Given the description of an element on the screen output the (x, y) to click on. 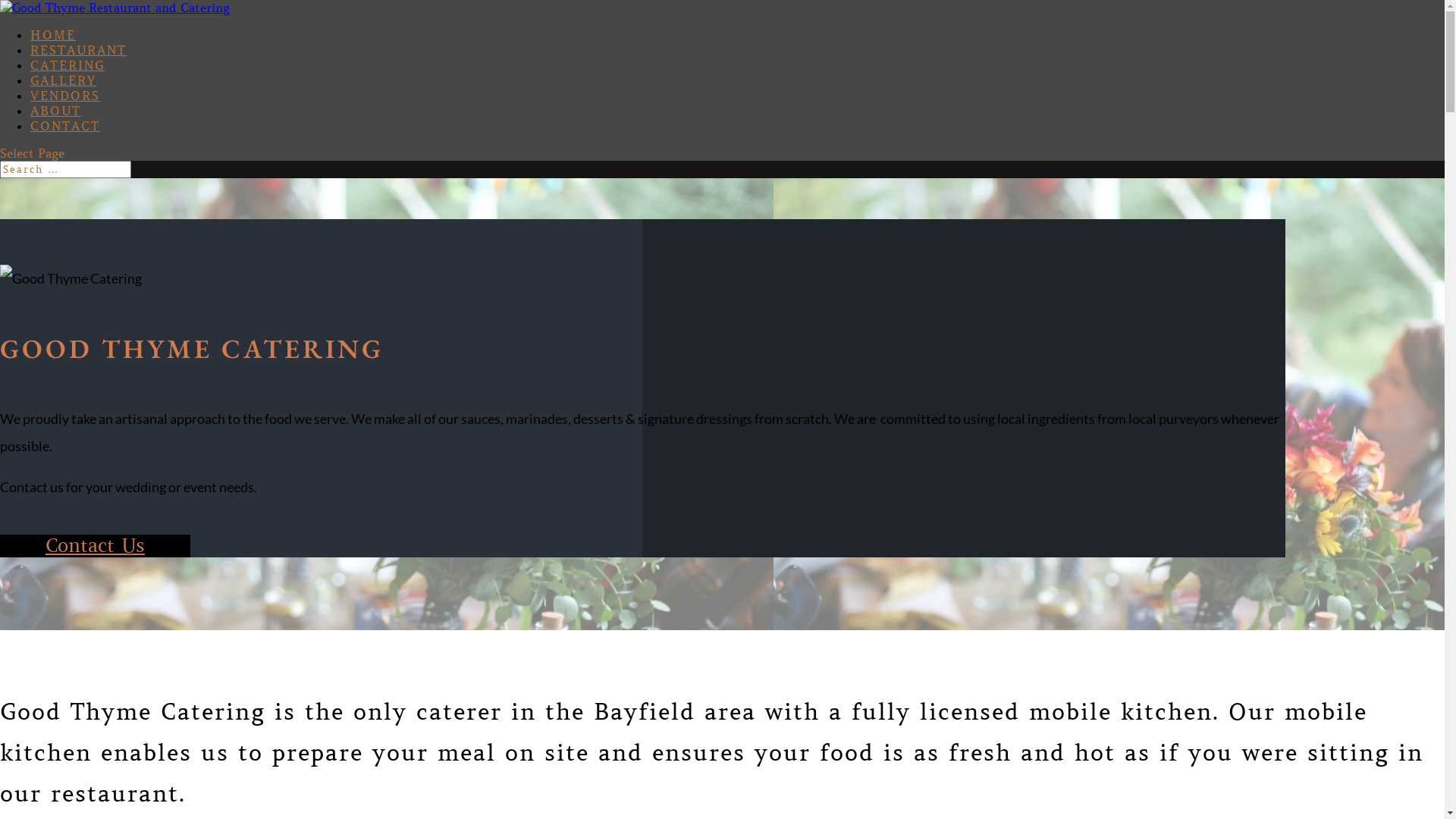
Search for: Element type: hover (65, 169)
RESTAURANT Element type: text (78, 49)
CATERING Element type: text (67, 64)
Contact Us Element type: text (95, 545)
ABOUT Element type: text (55, 110)
CONTACT Element type: text (65, 125)
GALLERY Element type: text (63, 79)
VENDORS Element type: text (65, 95)
HOME Element type: text (52, 34)
